Given the description of an element on the screen output the (x, y) to click on. 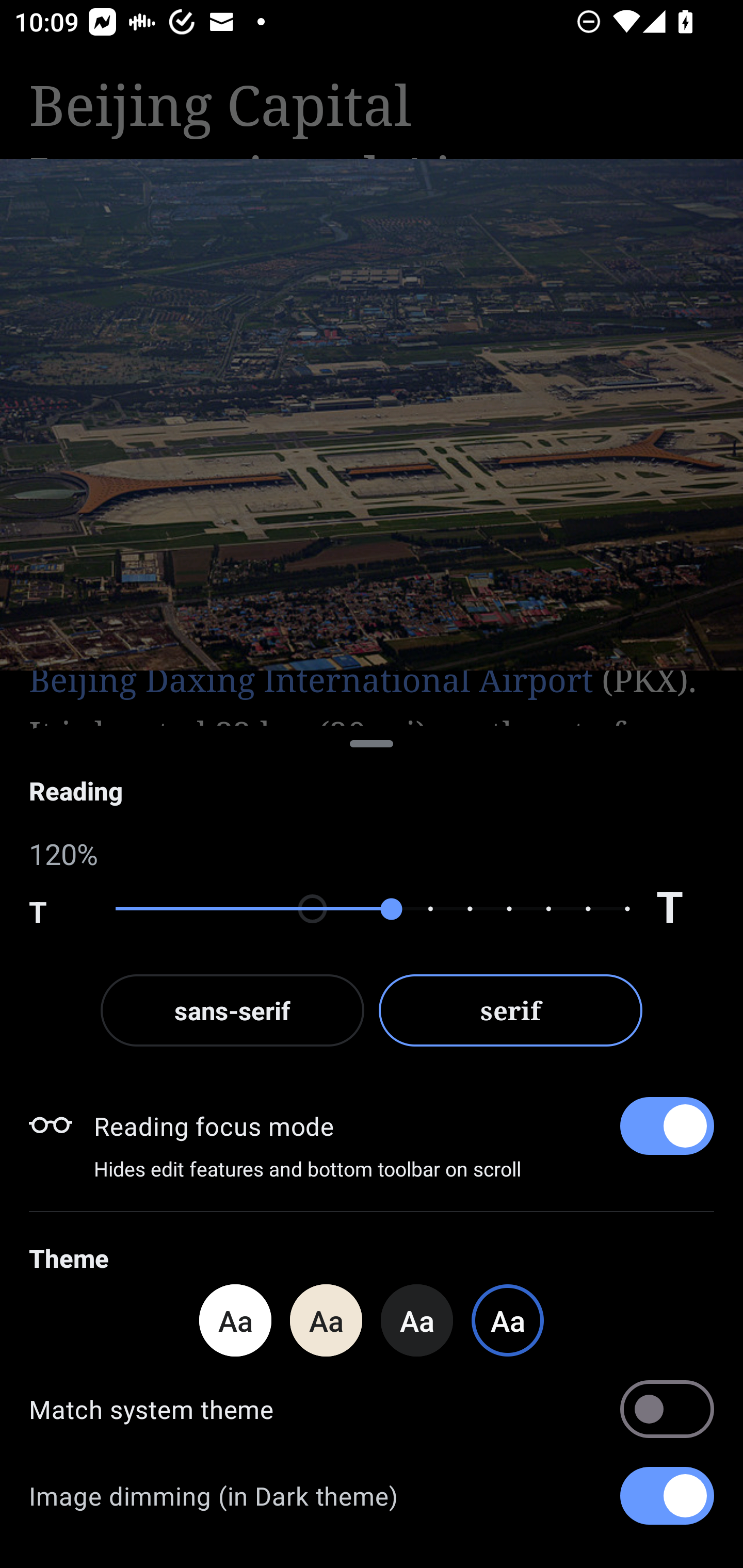
T Decrease text size (57, 909)
T Increase text size (685, 909)
sans-serif (232, 1010)
serif (510, 1010)
Reading focus mode (403, 1125)
Aa (235, 1320)
Aa (325, 1320)
Aa (416, 1320)
Match system theme (371, 1408)
Image dimming (in Dark theme) (371, 1495)
